Given the description of an element on the screen output the (x, y) to click on. 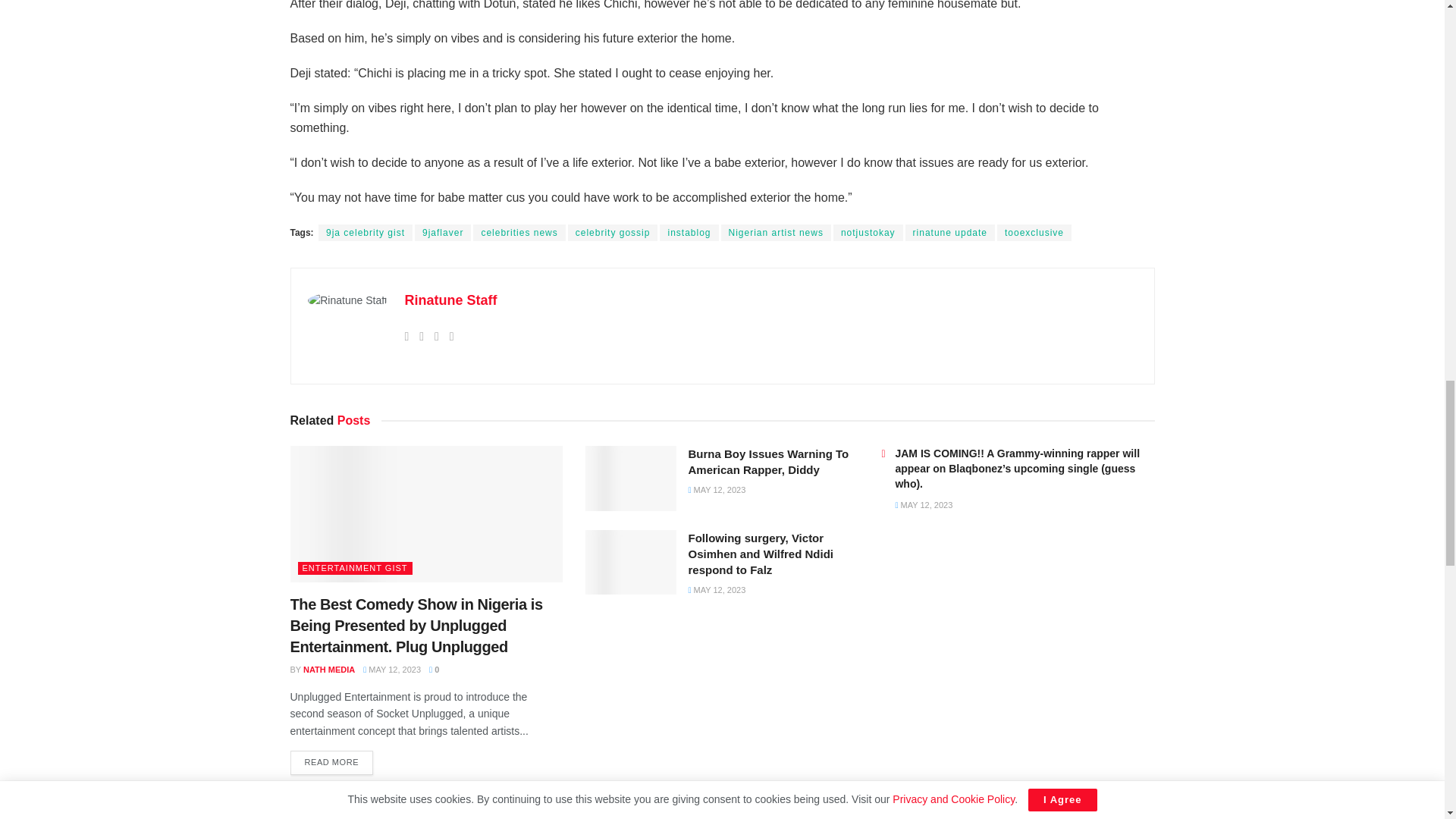
9jaflaver (442, 232)
9ja celebrity gist (365, 232)
celebrities news (518, 232)
